Given the description of an element on the screen output the (x, y) to click on. 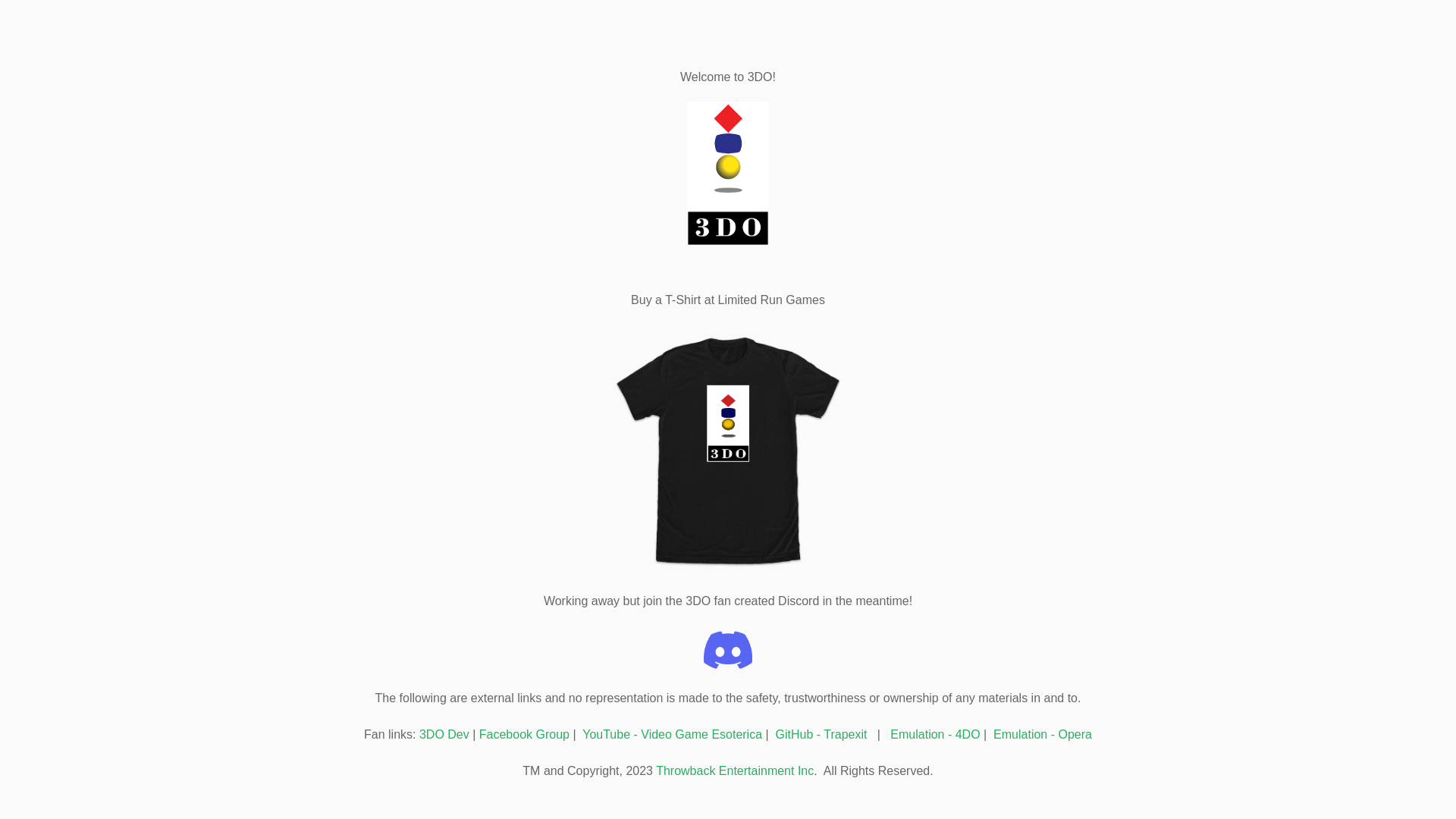
GitHub - Trapexit  Element type: text (822, 734)
Emulation - Opera Element type: text (1042, 734)
Facebook Group Element type: text (524, 734)
YouTube - Video Game Esoterica Element type: text (672, 734)
3DO Dev Element type: text (444, 734)
Throwback Entertainment Inc Element type: text (734, 770)
Emulation - 4DO Element type: text (934, 734)
